Given the description of an element on the screen output the (x, y) to click on. 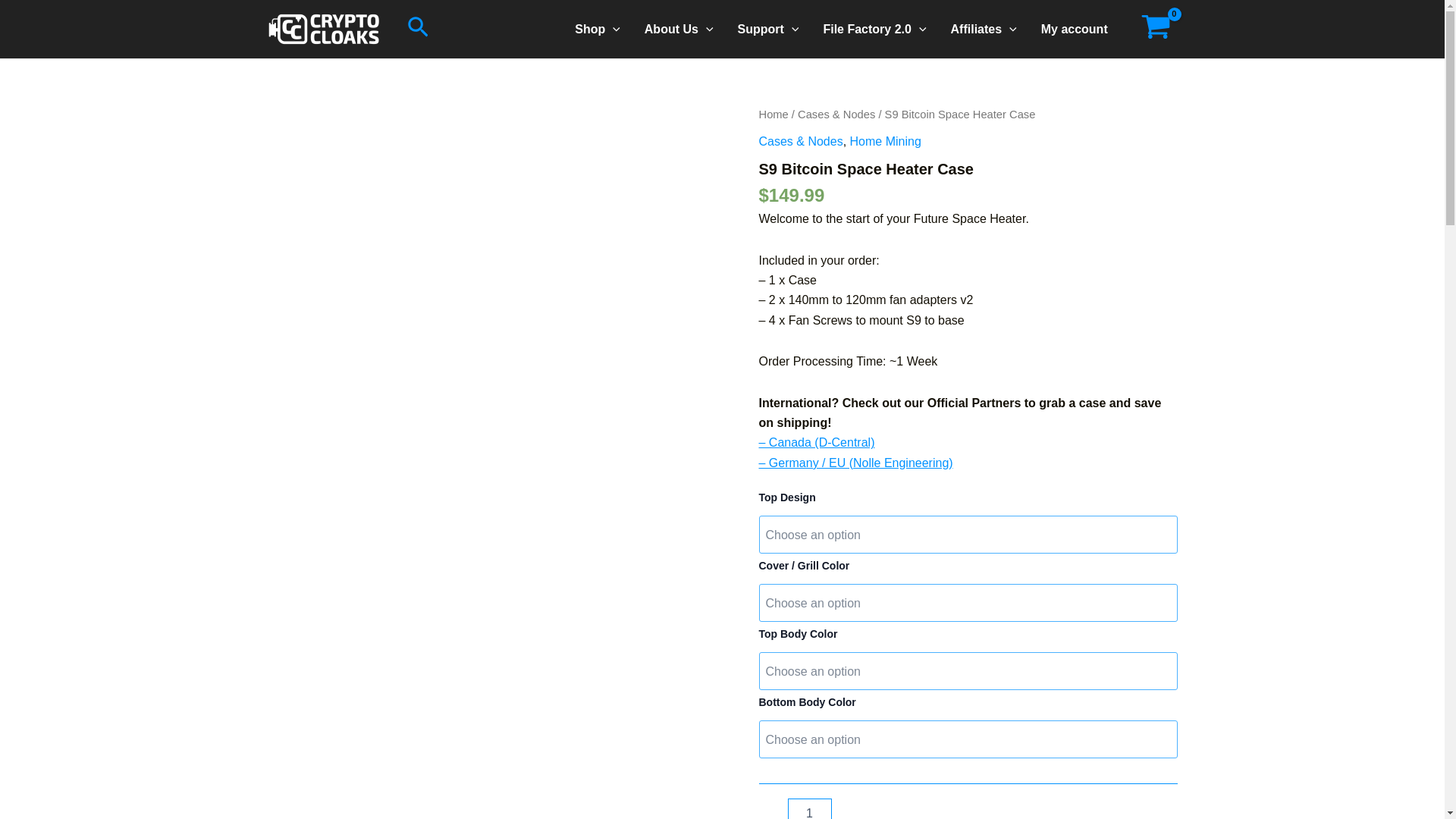
Shop (596, 29)
Support (767, 29)
1 (809, 808)
About Us (678, 29)
